Given the description of an element on the screen output the (x, y) to click on. 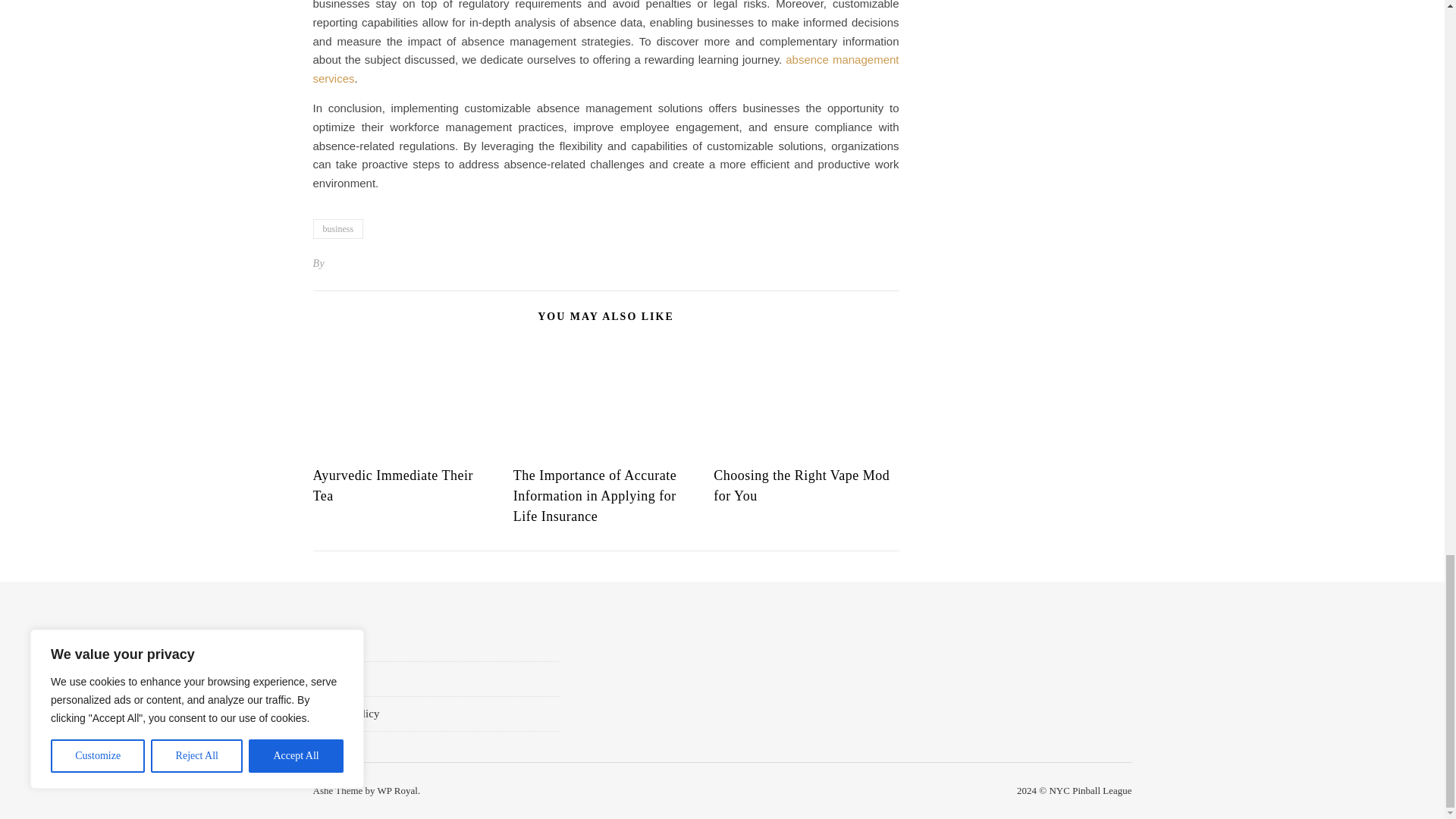
business (337, 229)
Ayurvedic Immediate Their Tea (392, 485)
absence management services (605, 69)
